Given the description of an element on the screen output the (x, y) to click on. 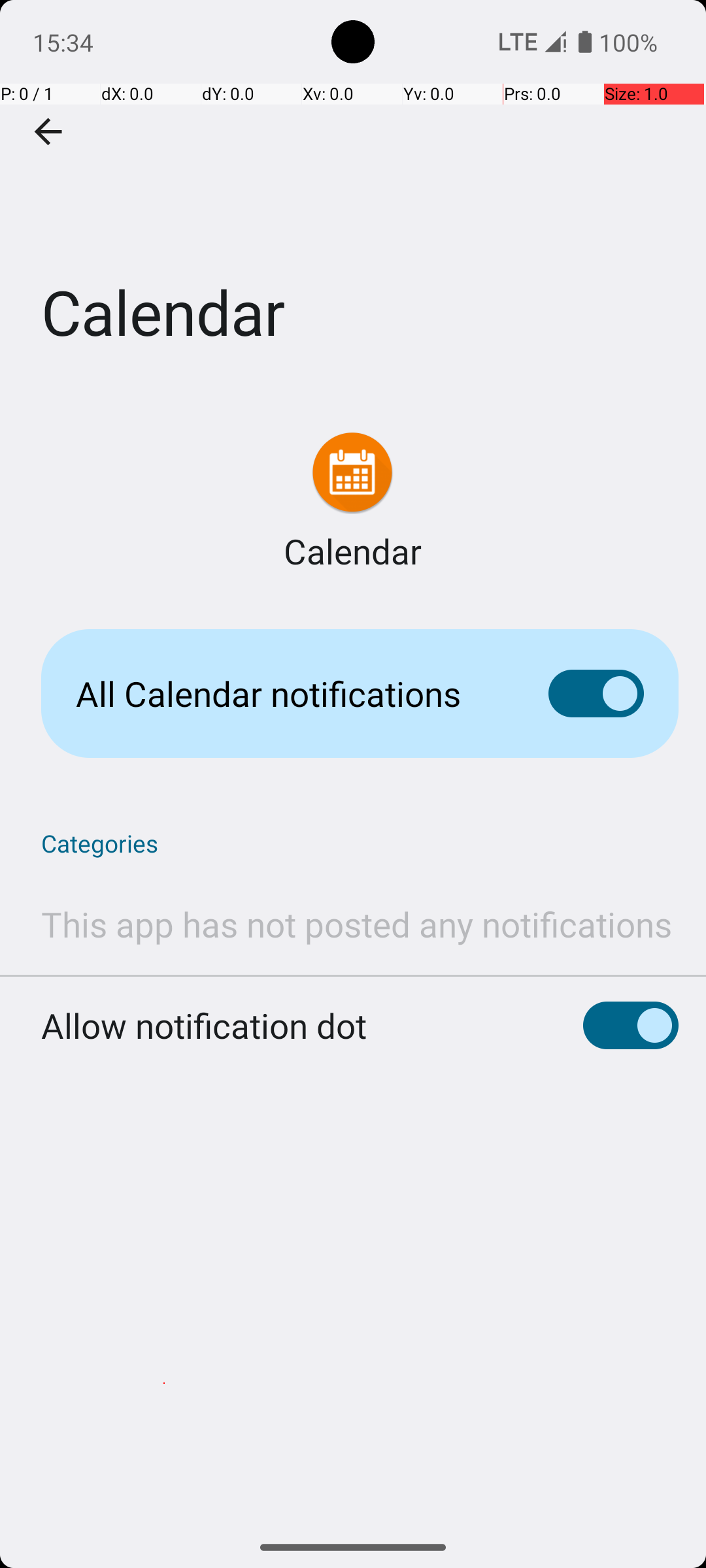
All Calendar notifications Element type: android.widget.TextView (291, 693)
This app has not posted any notifications Element type: android.widget.TextView (356, 923)
Allow notification dot Element type: android.widget.TextView (203, 882)
